Given the description of an element on the screen output the (x, y) to click on. 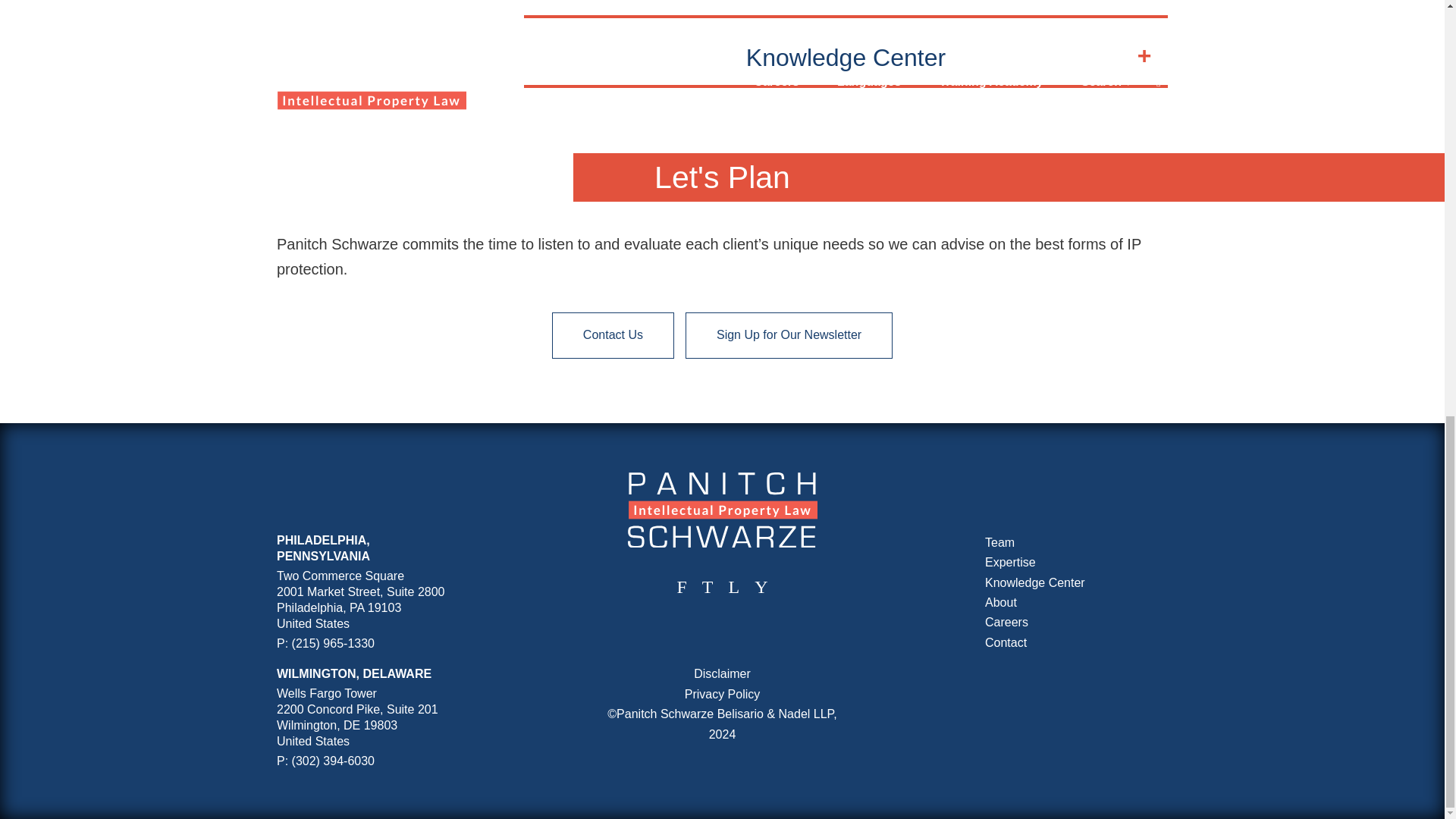
Sign Up for Our Newsletter (788, 334)
Contact Us (612, 334)
